Given the description of an element on the screen output the (x, y) to click on. 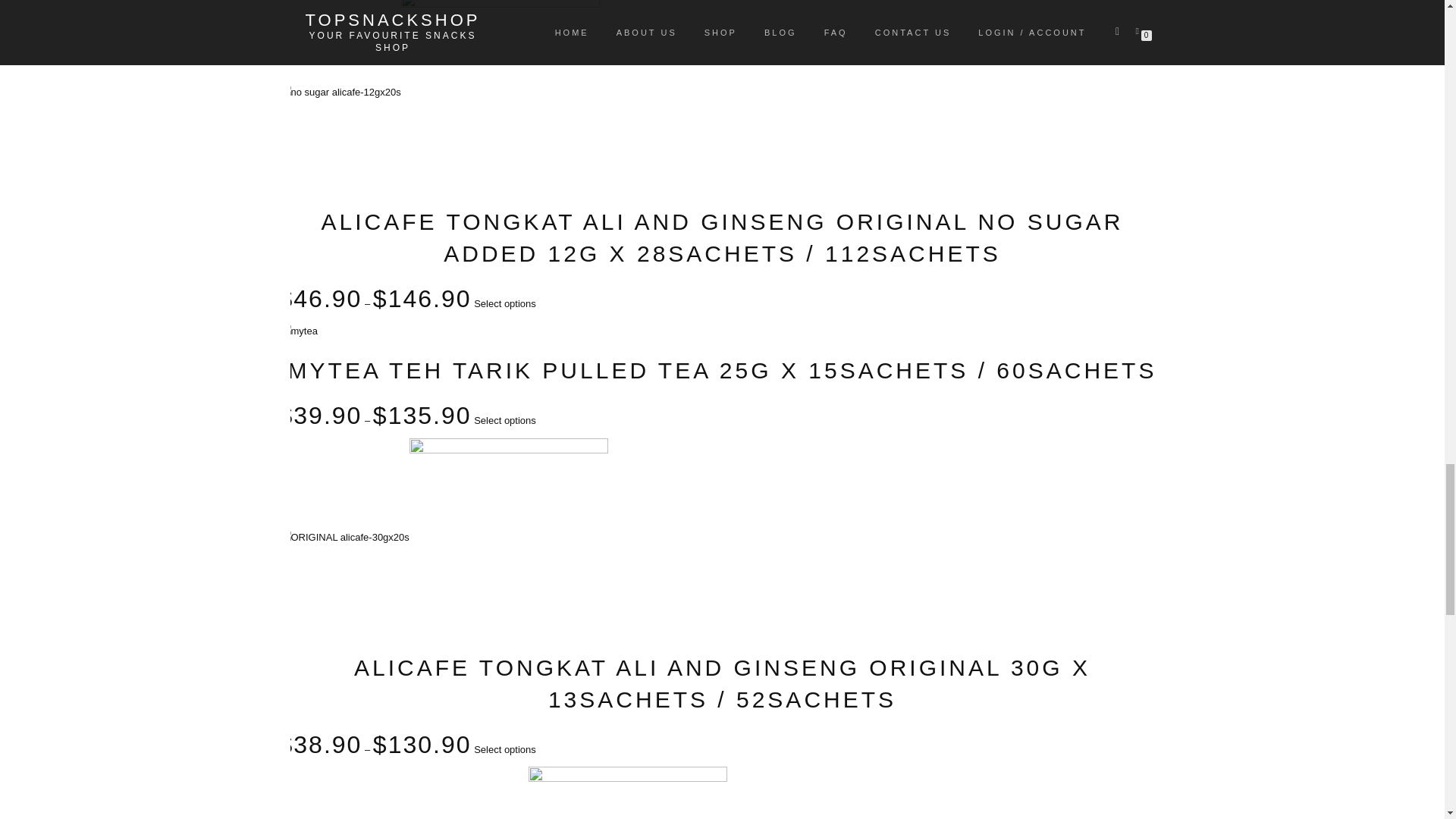
no sugar alicafe-12gx20s (340, 91)
Select options (504, 749)
ORIGINAL alicafe-30gx20s (344, 537)
Select options (504, 303)
Select options (504, 419)
mytea (298, 330)
